Given the description of an element on the screen output the (x, y) to click on. 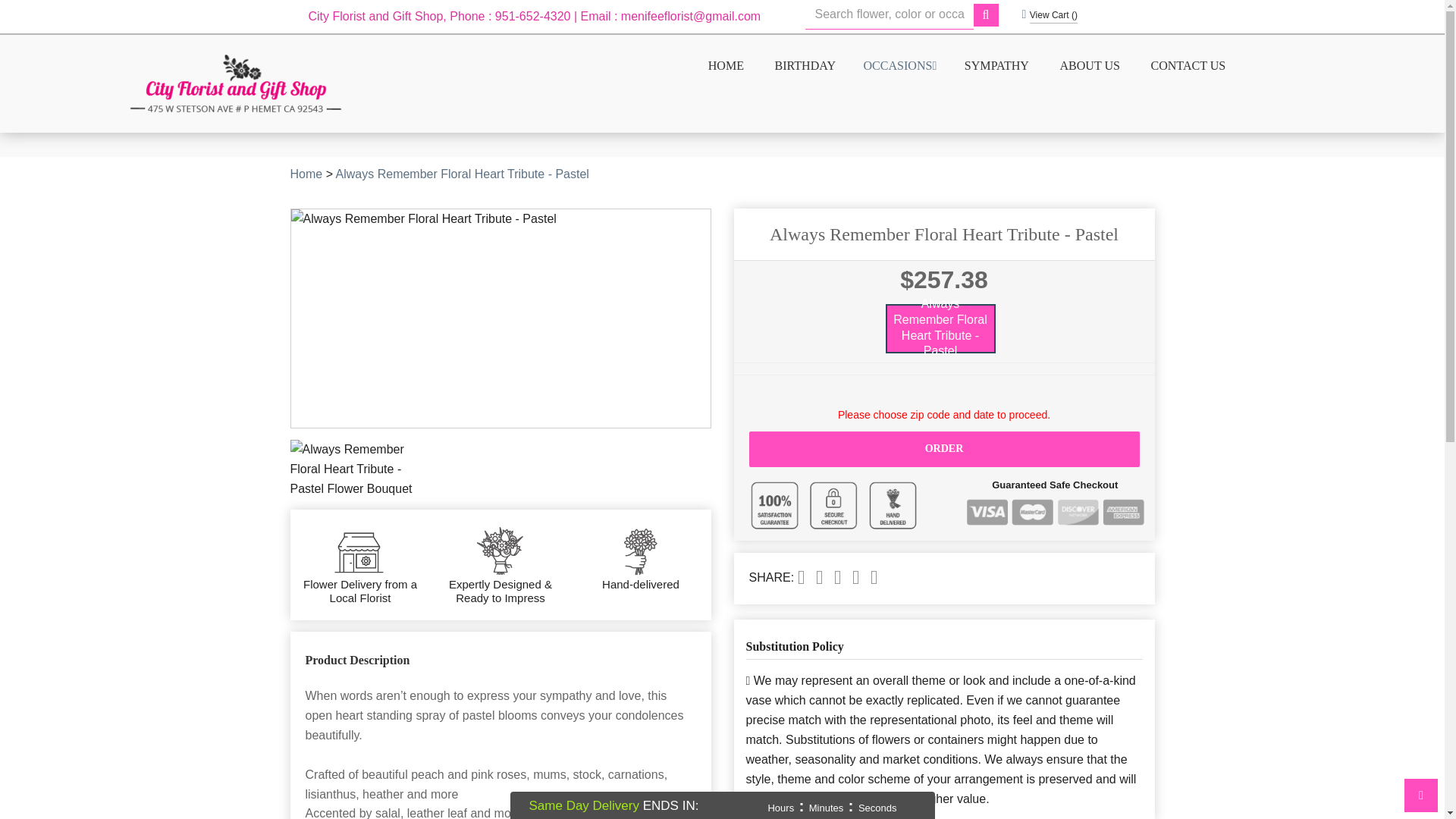
Always (462, 173)
OCCASIONS (899, 66)
Home (305, 173)
HOME (725, 65)
BIRTHDAY (804, 65)
